Given the description of an element on the screen output the (x, y) to click on. 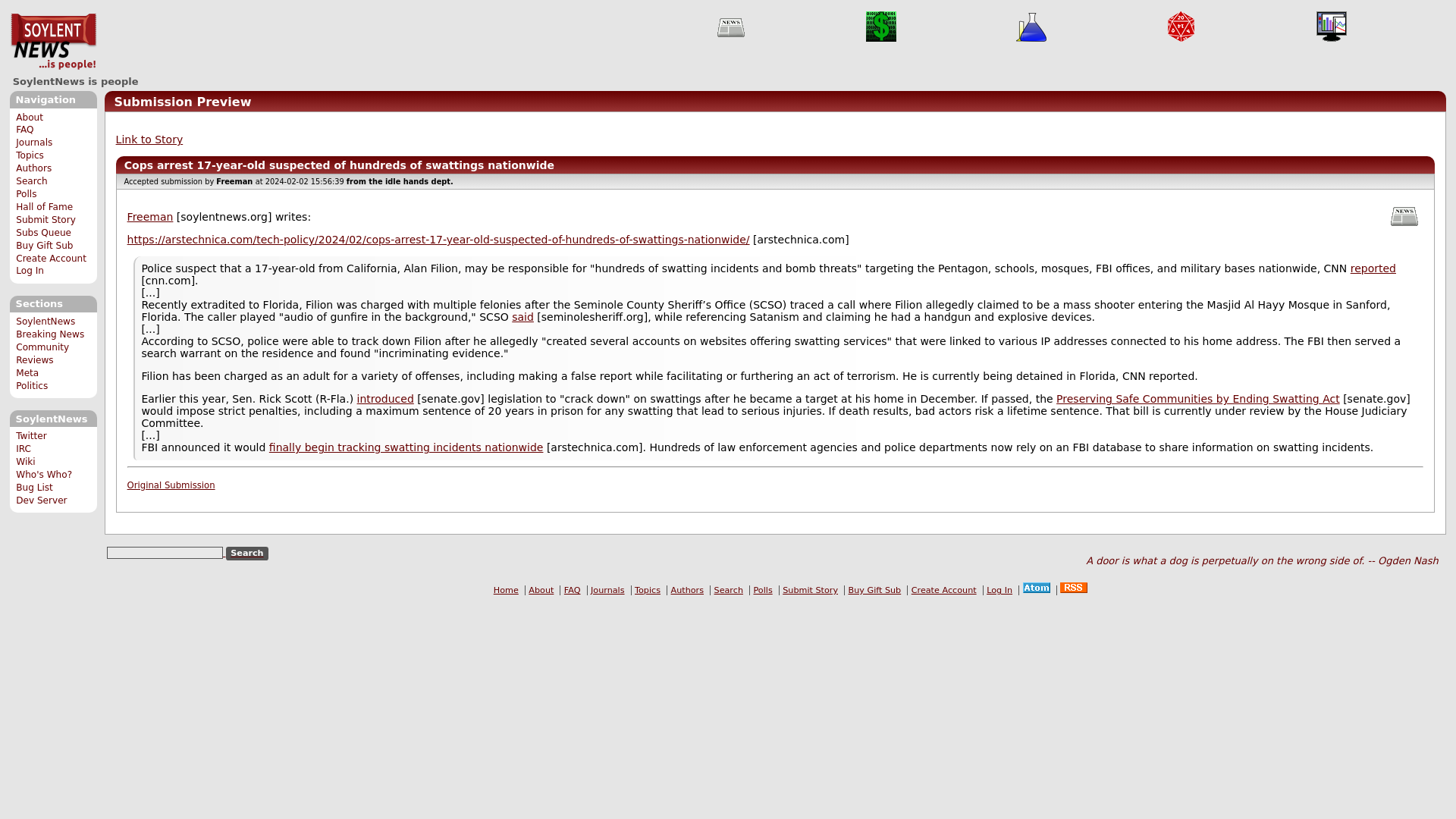
Meta (27, 372)
Politics (32, 385)
seminolesheriff.org (523, 316)
Freeman (150, 216)
arstechnica.com (406, 447)
Buy Gift Sub (44, 245)
Log In (29, 270)
Community Reviews (42, 353)
soylentnews.org (150, 216)
IRC (23, 448)
Breaking News (50, 334)
Science (1031, 26)
Topics (29, 154)
Link to Story (149, 139)
Search (247, 553)
